Given the description of an element on the screen output the (x, y) to click on. 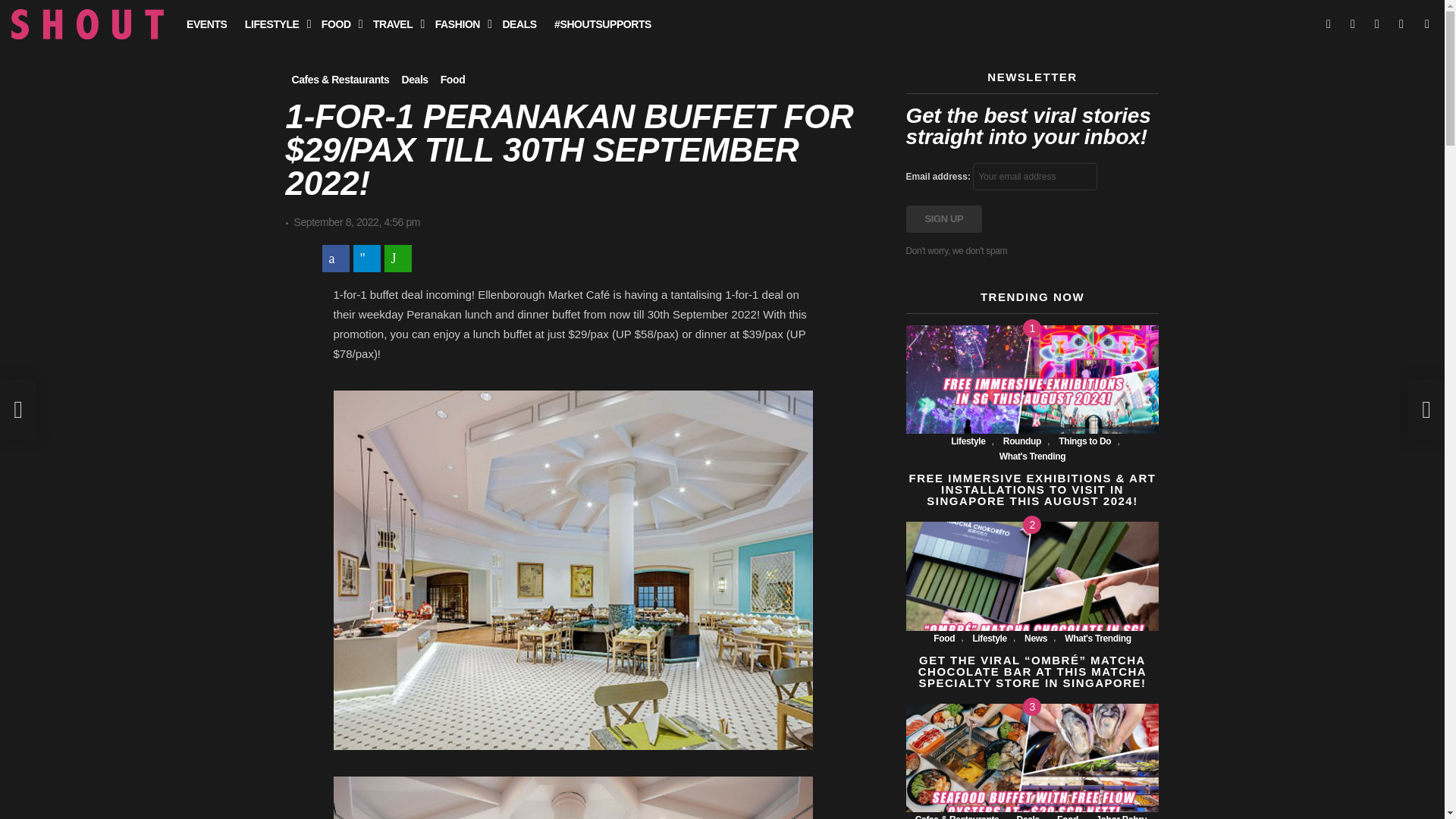
TRAVEL (395, 24)
FASHION (460, 24)
Share on Telegram (366, 257)
youtube (1401, 24)
twitter (1352, 24)
DEALS (519, 24)
Sign up (943, 218)
Deals (413, 79)
LIFESTYLE (274, 24)
facebook (1328, 24)
